Given the description of an element on the screen output the (x, y) to click on. 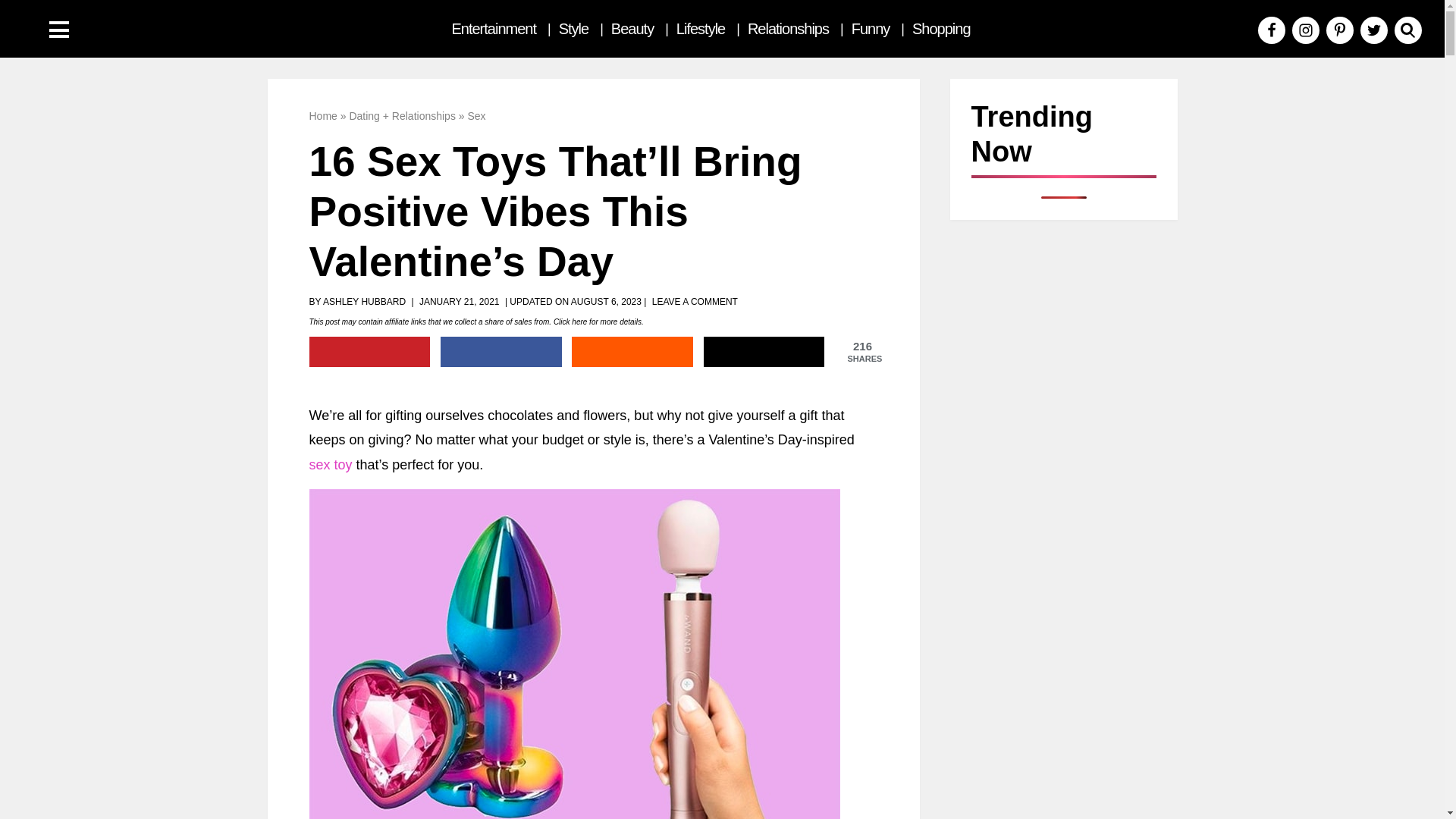
Main Menu (58, 30)
Share on X (764, 351)
Share on Facebook (501, 351)
Share on Reddit (632, 351)
Darcy Magazine (113, 28)
Save to Pinterest (369, 351)
